Given the description of an element on the screen output the (x, y) to click on. 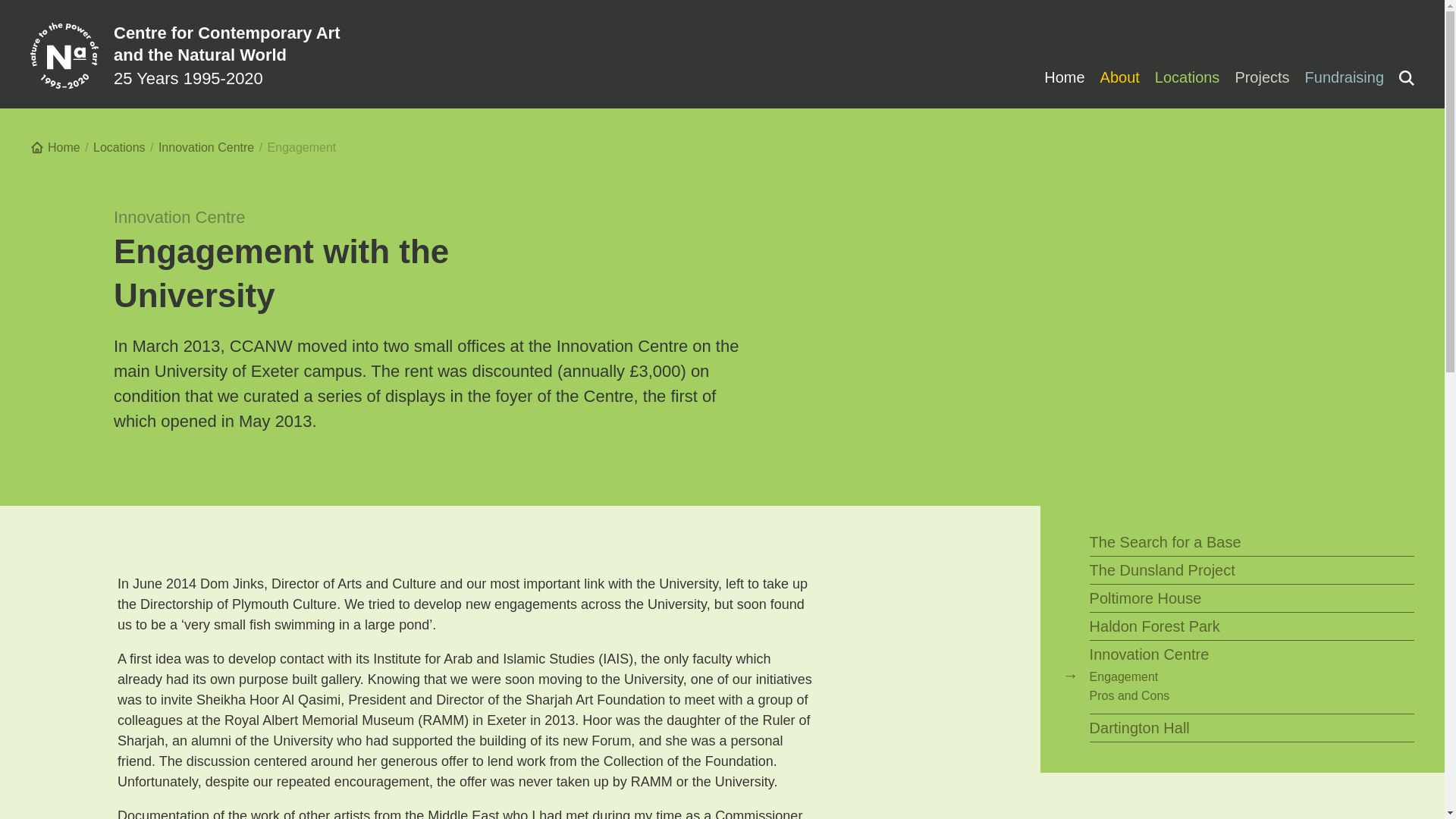
The Dunsland Project (1206, 569)
Poltimore House (1206, 597)
Home (55, 146)
Fundraising (1340, 77)
Locations (119, 146)
Projects (1262, 77)
Locations (1187, 77)
The Search for a Base (1206, 542)
About (1120, 77)
Innovation Centre (205, 146)
Home (1064, 77)
